Given the description of an element on the screen output the (x, y) to click on. 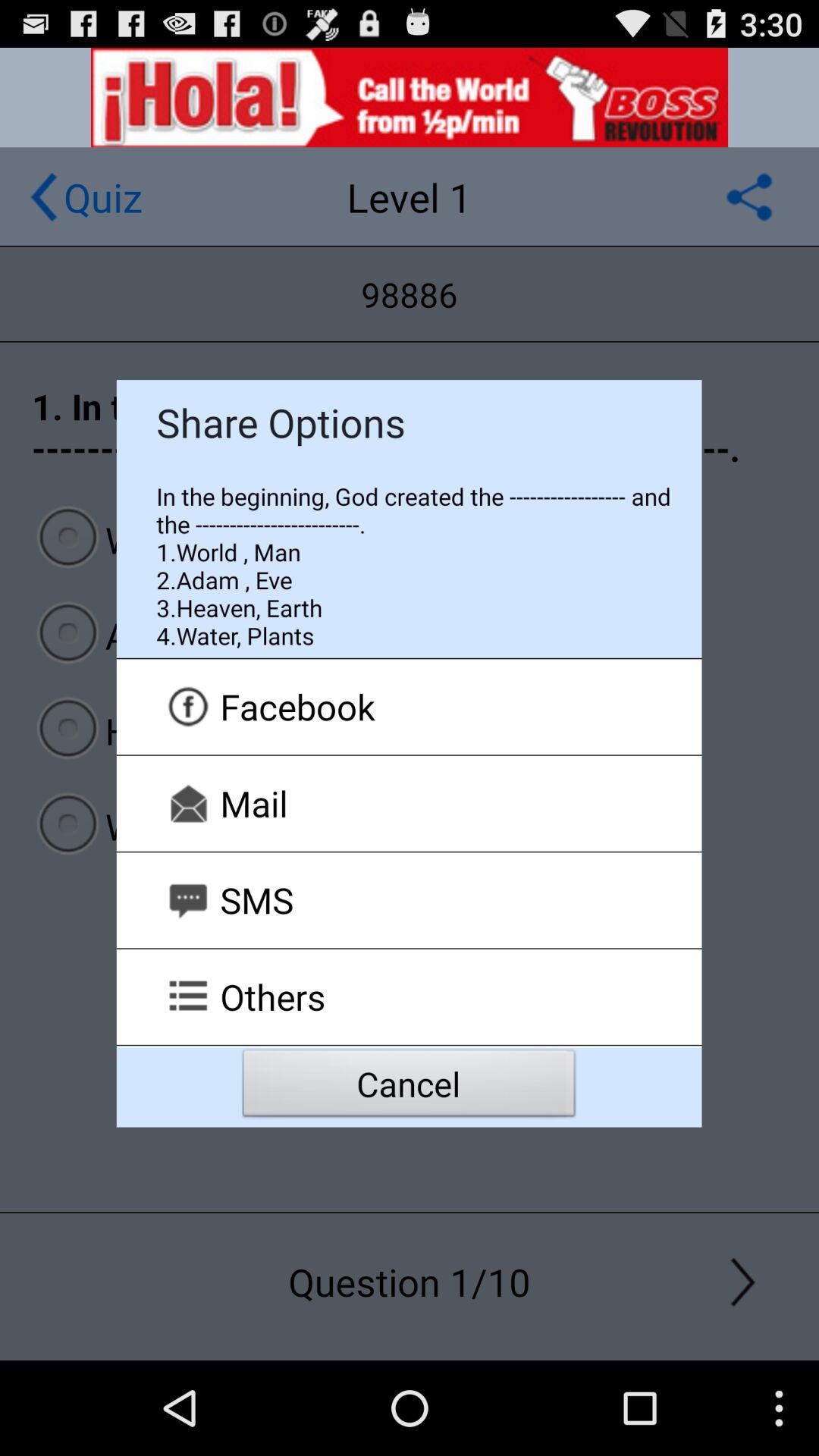
to share (749, 196)
